Given the description of an element on the screen output the (x, y) to click on. 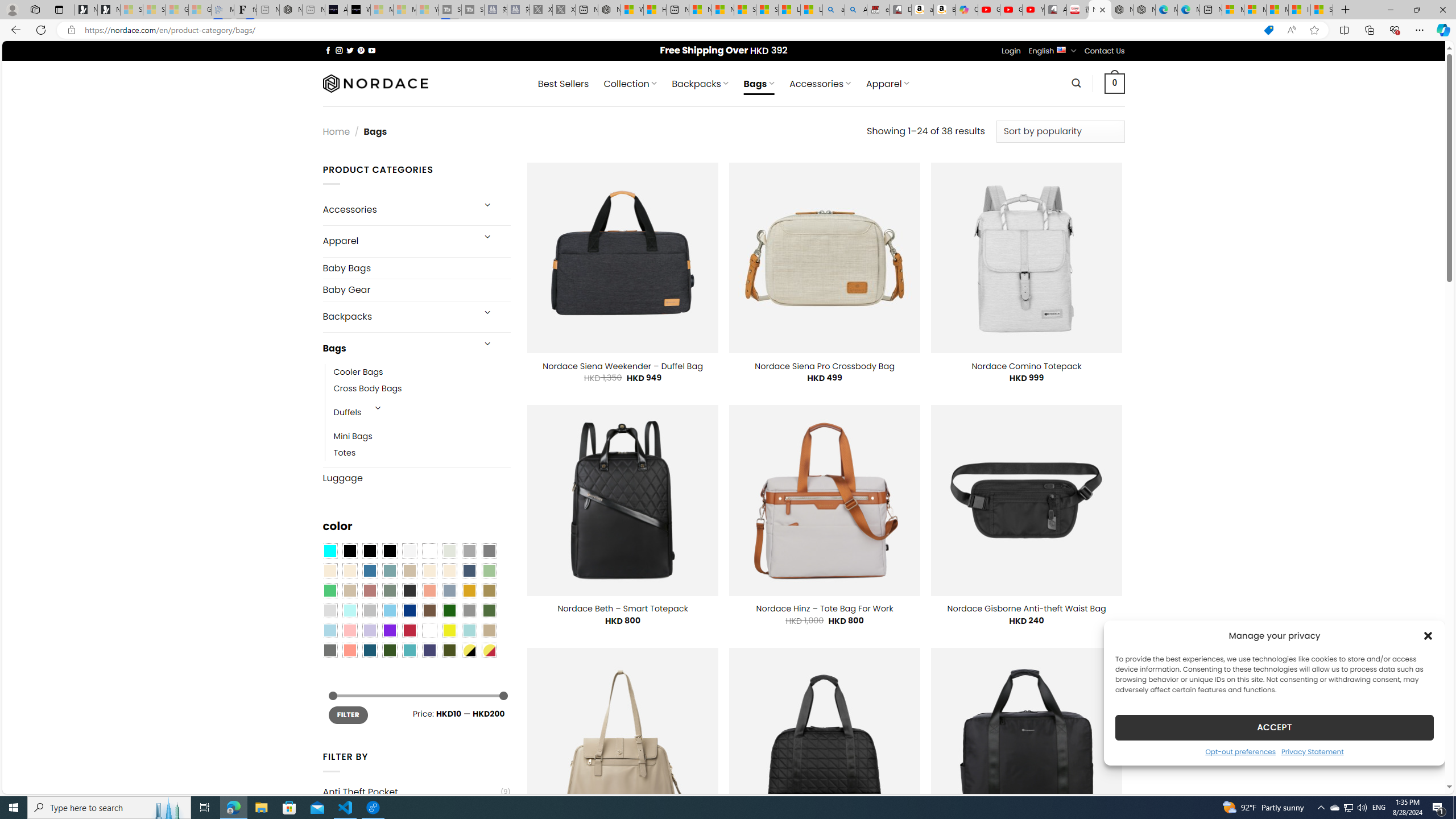
Yellow (449, 630)
 0  (1115, 83)
Blue (369, 570)
Pearly White (408, 550)
Contact Us (1104, 50)
Nordace - #1 Japanese Best-Seller - Siena Smart Backpack (291, 9)
Brownie (408, 570)
ACCEPT (1274, 727)
Baby Bags (416, 267)
App bar (728, 29)
Light Blue (329, 630)
Follow on Pinterest (360, 49)
